Given the description of an element on the screen output the (x, y) to click on. 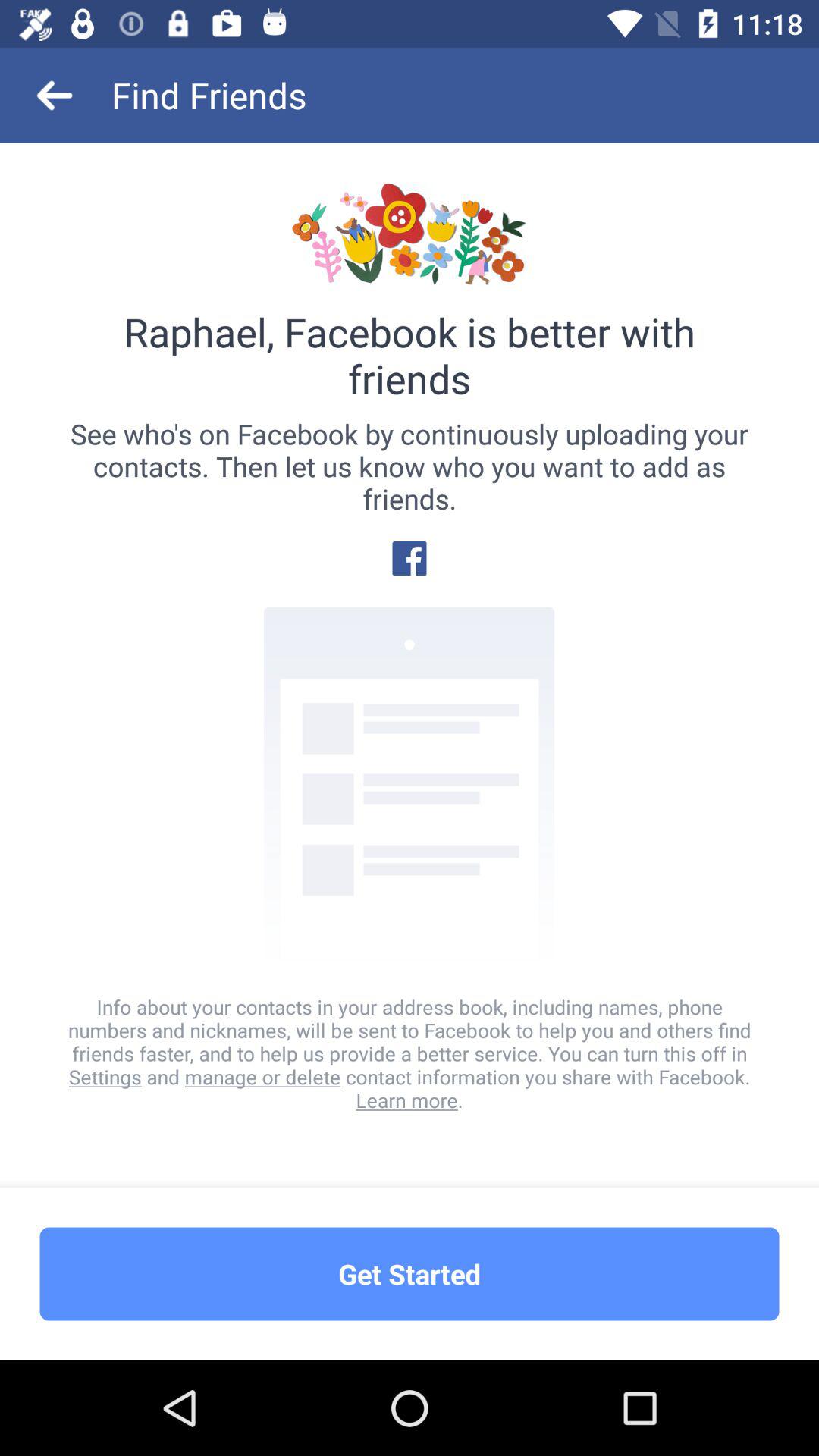
turn on the item at the top left corner (55, 95)
